Given the description of an element on the screen output the (x, y) to click on. 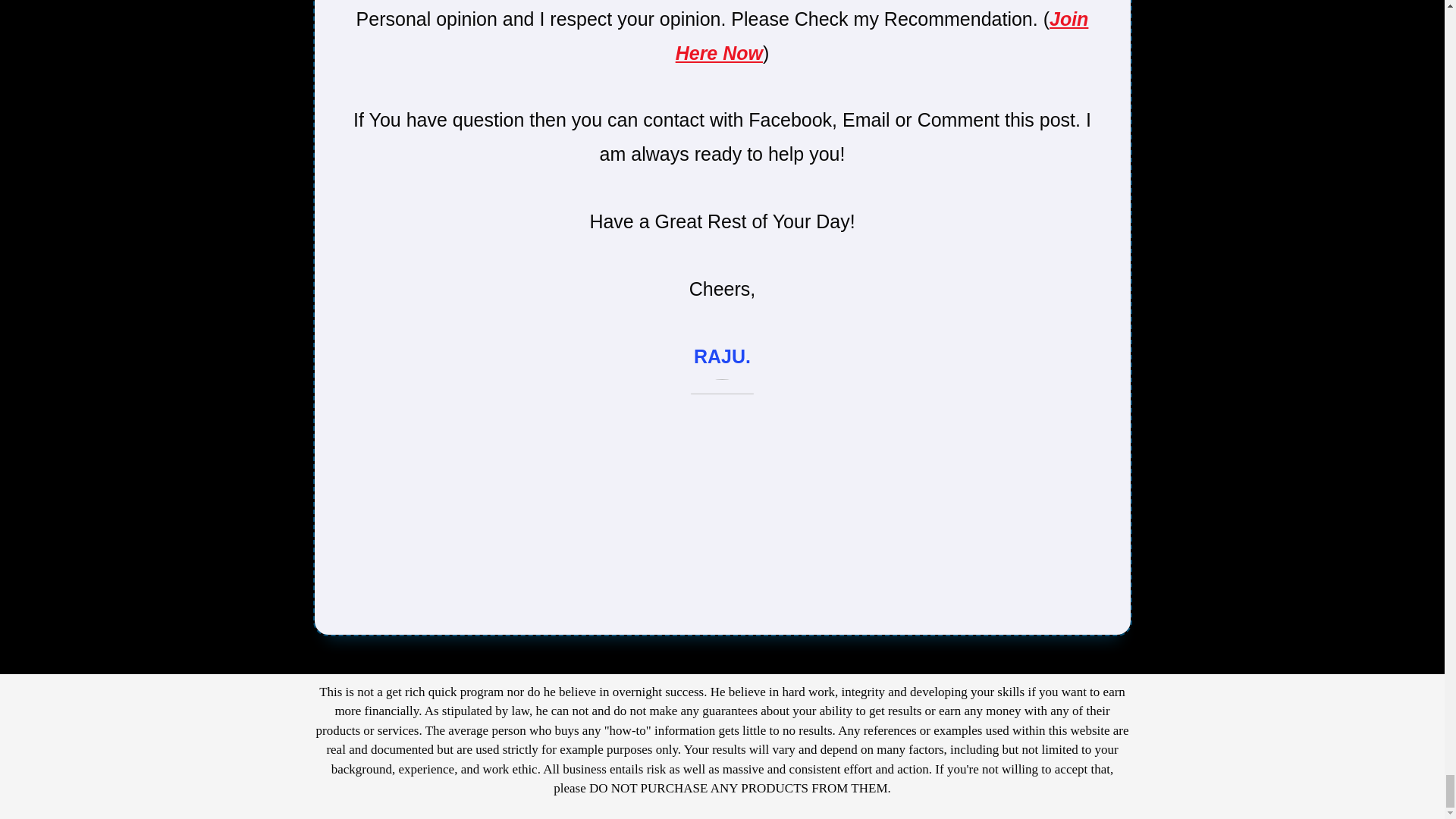
Join Here Now (882, 35)
